Given the description of an element on the screen output the (x, y) to click on. 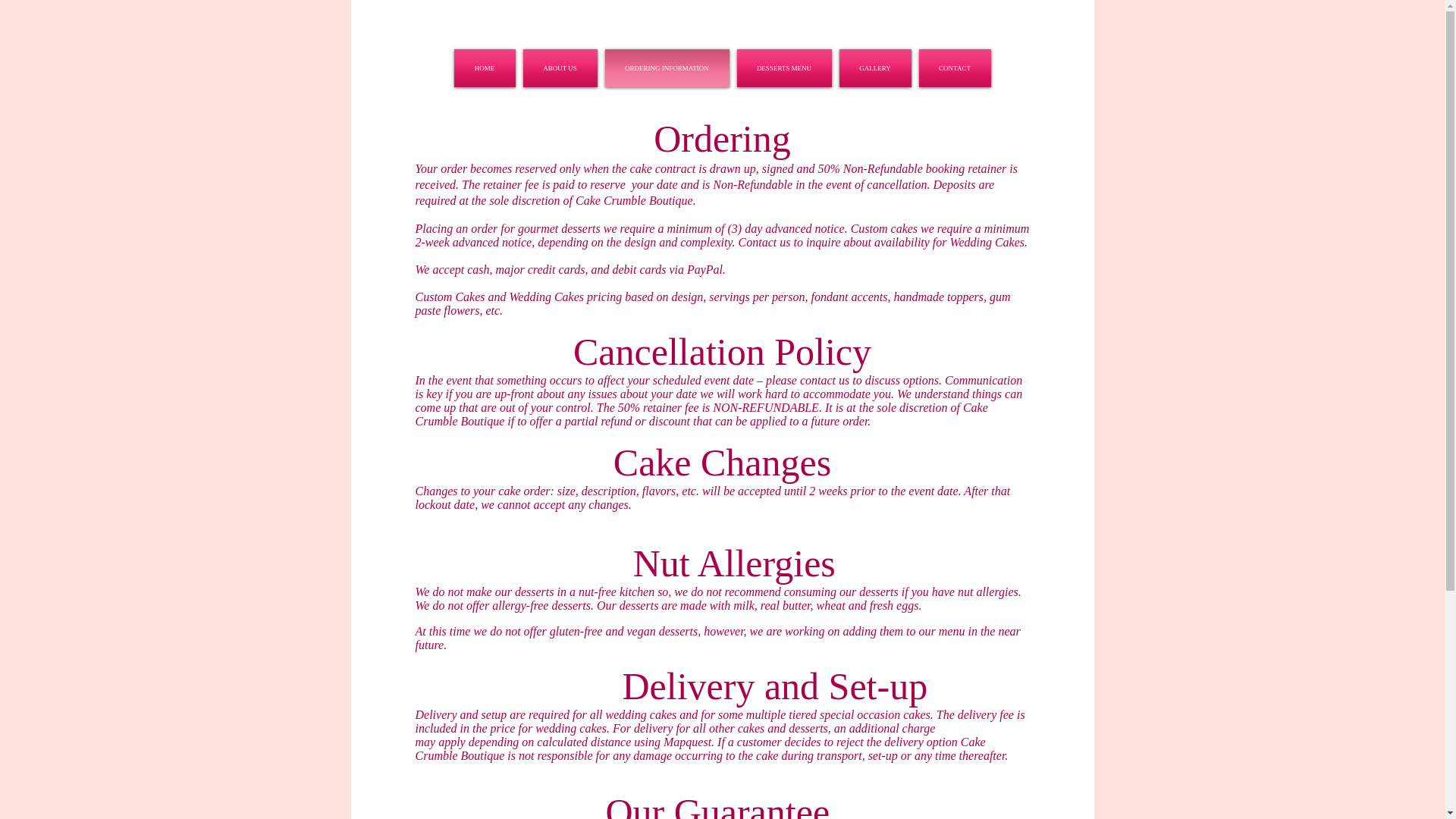
CONTACT (952, 67)
GALLERY (875, 67)
ORDERING INFORMATION (665, 67)
DESSERTS MENU (783, 67)
ABOUT US (558, 67)
HOME (485, 67)
